Given the description of an element on the screen output the (x, y) to click on. 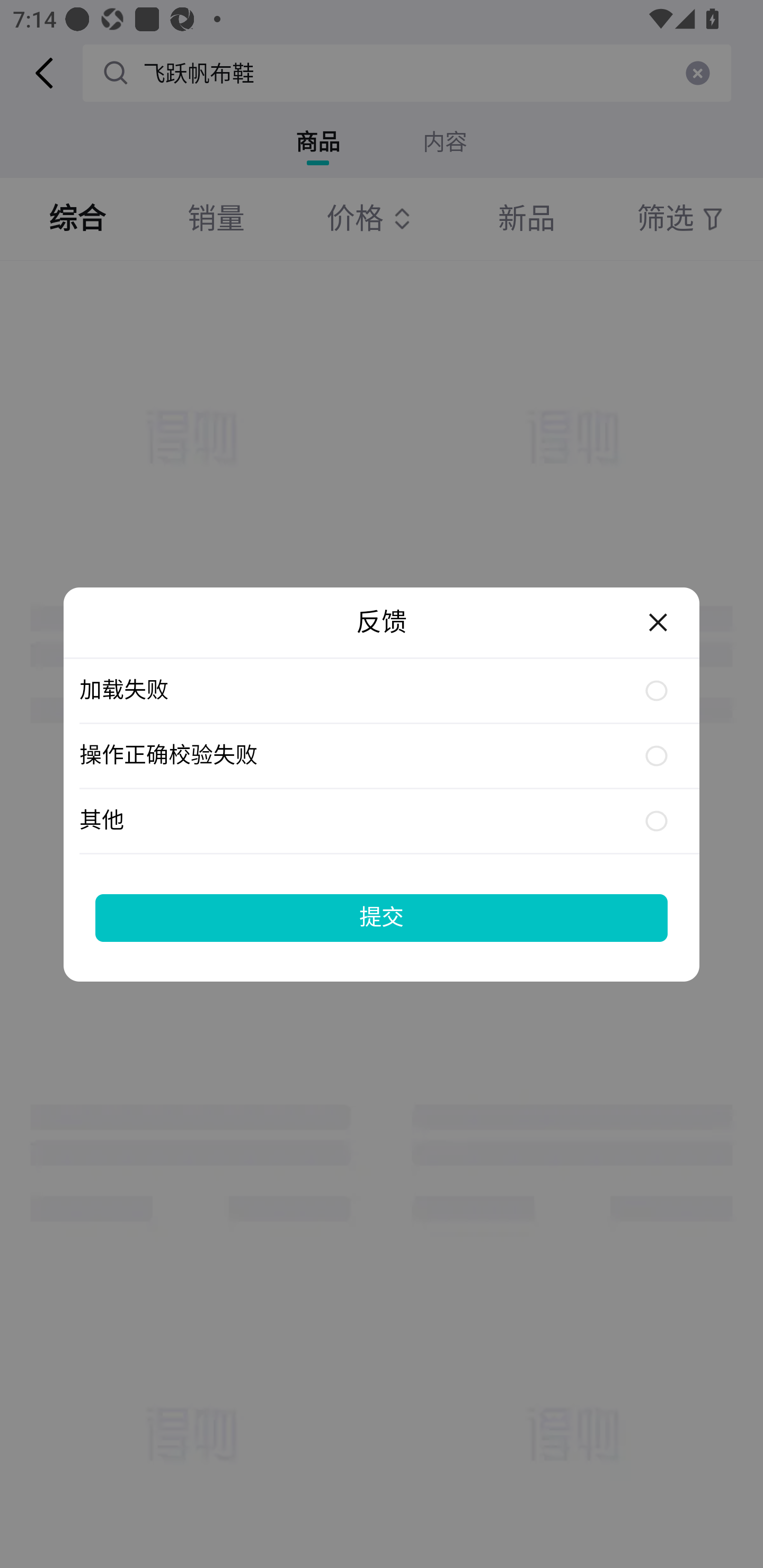
提交 (381, 917)
